Given the description of an element on the screen output the (x, y) to click on. 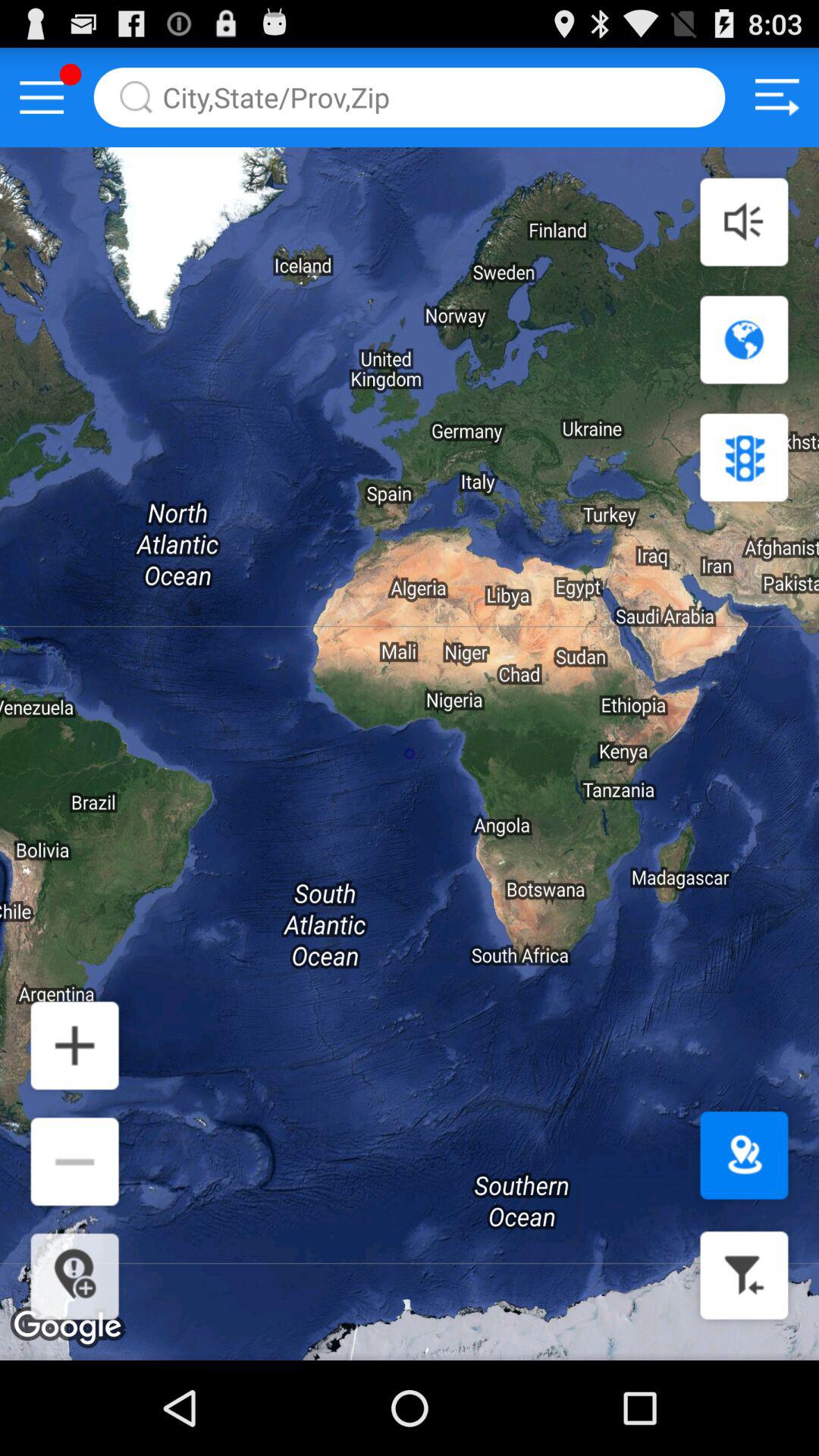
turn on icon at the top (409, 97)
